Given the description of an element on the screen output the (x, y) to click on. 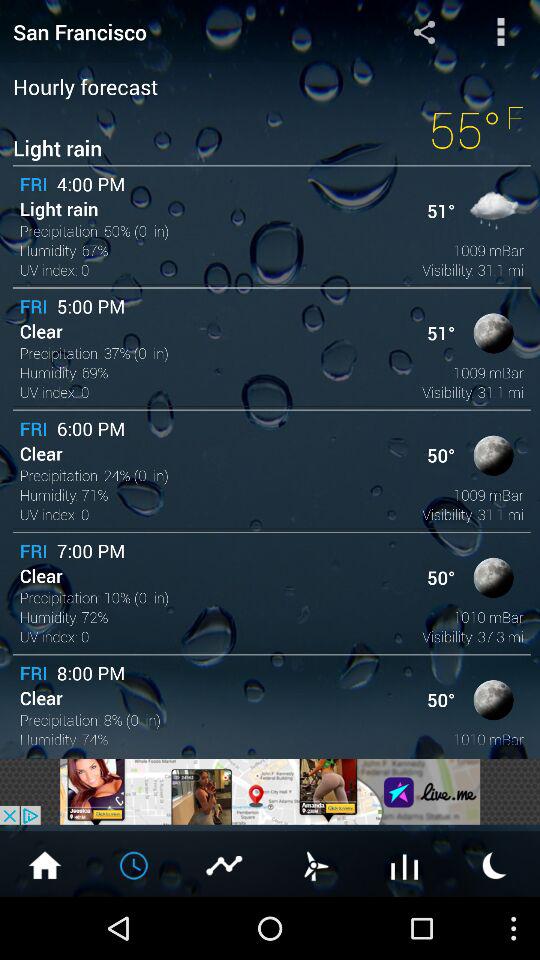
open 10-day forecast (405, 864)
